Given the description of an element on the screen output the (x, y) to click on. 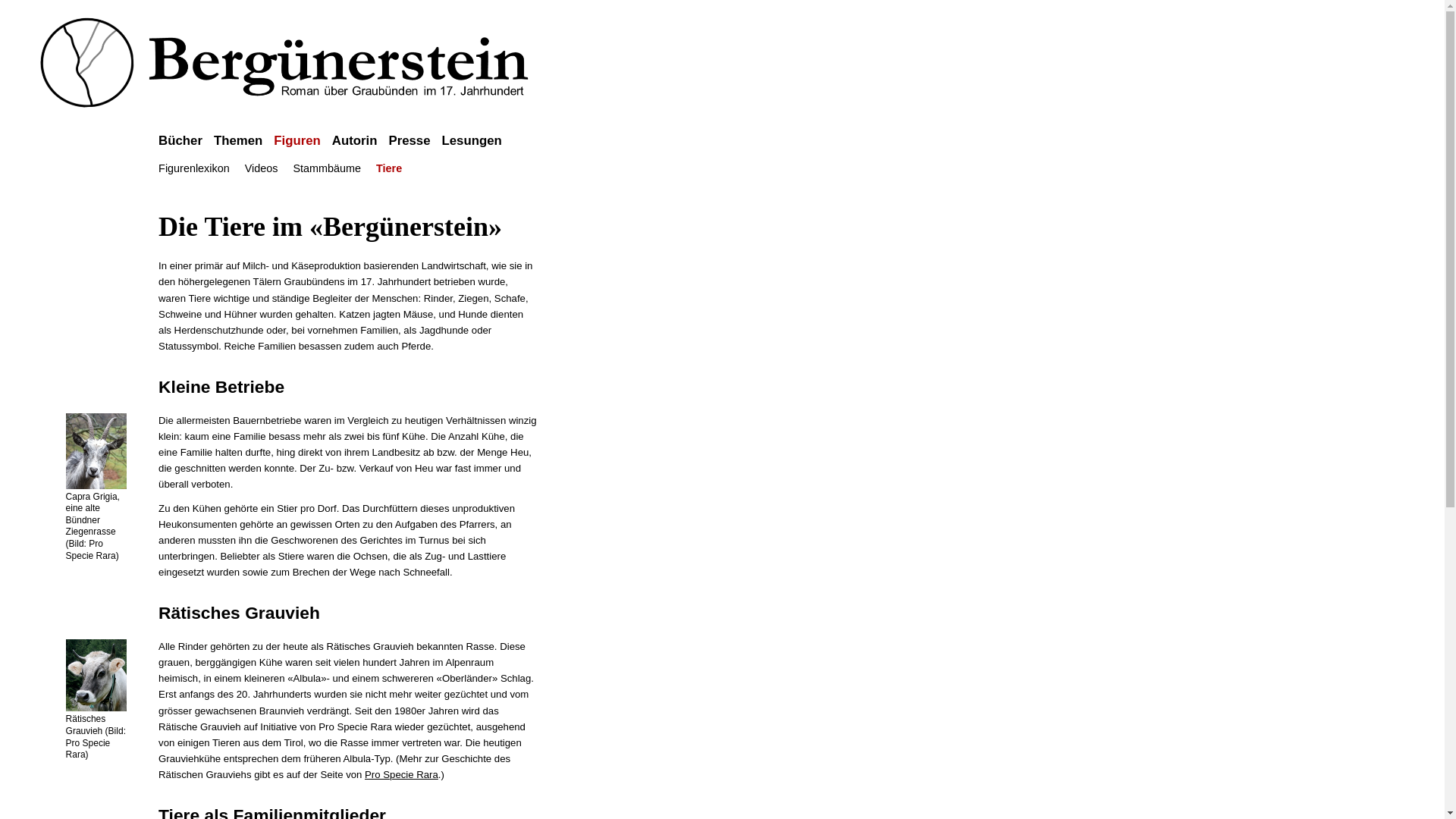
Pro Specie Rara Element type: text (401, 774)
Figuren Element type: text (302, 140)
Videos Element type: text (261, 168)
Autorin Element type: text (360, 140)
  Element type: text (512, 134)
  Element type: text (416, 164)
Lesungen Element type: text (477, 140)
Presse Element type: text (414, 140)
Themen Element type: text (243, 140)
Figurenlexikon Element type: text (193, 168)
